Given the description of an element on the screen output the (x, y) to click on. 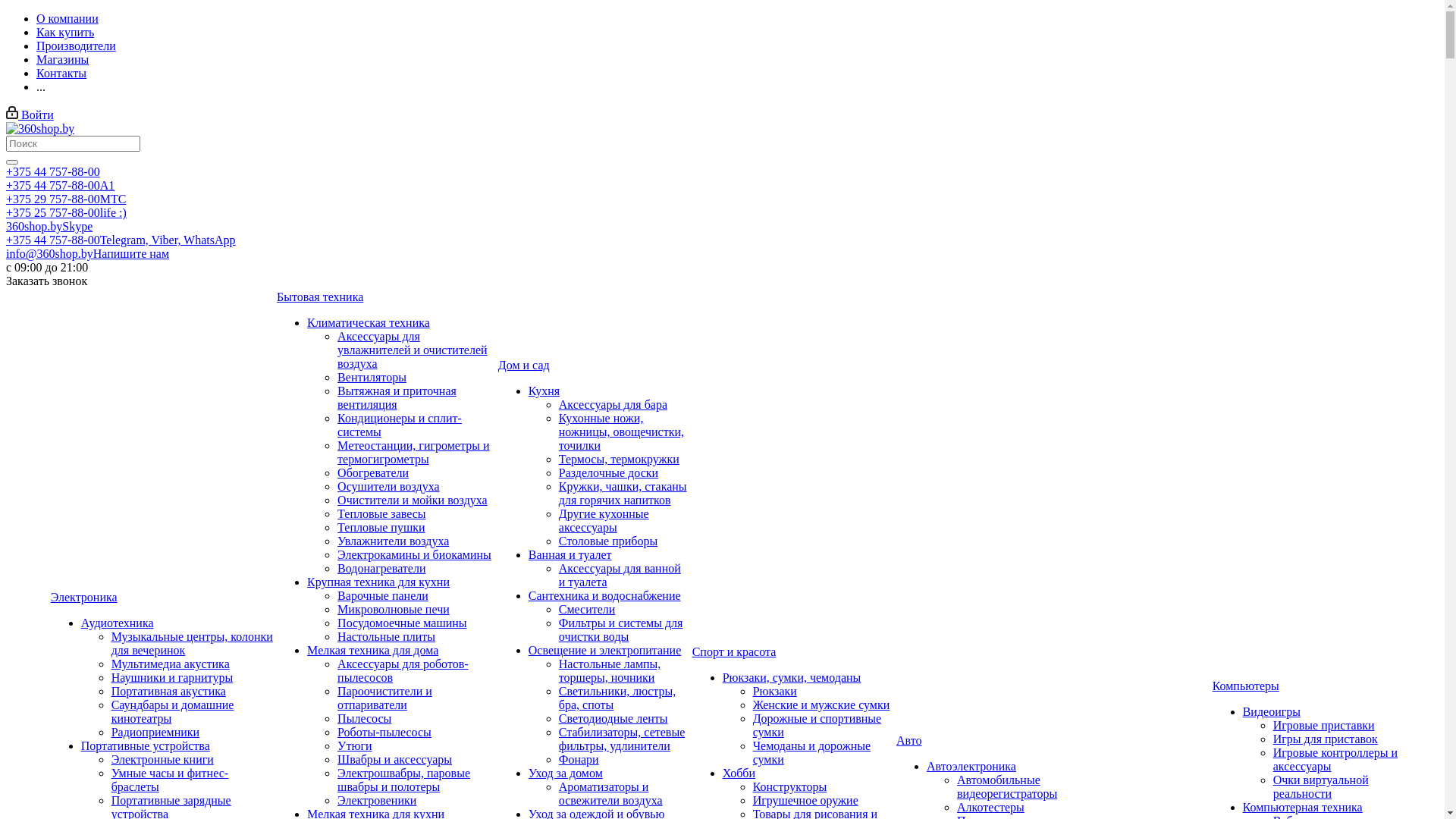
+375 44 757-88-00 Element type: text (53, 171)
+375 25 757-88-00life :) Element type: text (66, 212)
360shop.by Element type: hover (40, 128)
360shop.bySkype Element type: text (49, 225)
+375 44 757-88-00Telegram, Viber, WhatsApp Element type: text (120, 239)
+375 44 757-88-00A1 Element type: text (60, 184)
